Given the description of an element on the screen output the (x, y) to click on. 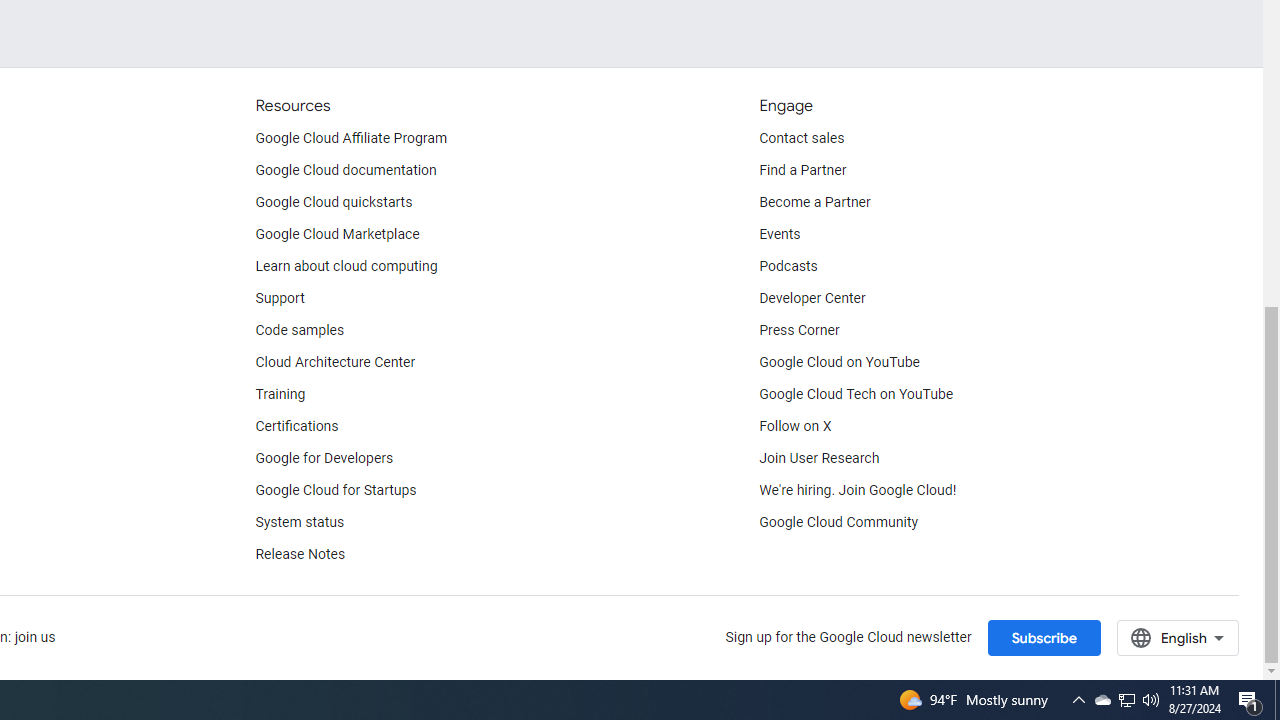
English (1177, 637)
Become a Partner (814, 202)
Subscribe (1043, 637)
Join User Research (819, 458)
Google Cloud on YouTube (839, 362)
Training (279, 394)
Contact sales (801, 138)
Podcasts (788, 266)
Cloud Architecture Center (335, 362)
Google for Developers (324, 458)
Press Corner (799, 331)
Events (780, 234)
Google Cloud Community (839, 522)
Find a Partner (803, 170)
Support (279, 298)
